Given the description of an element on the screen output the (x, y) to click on. 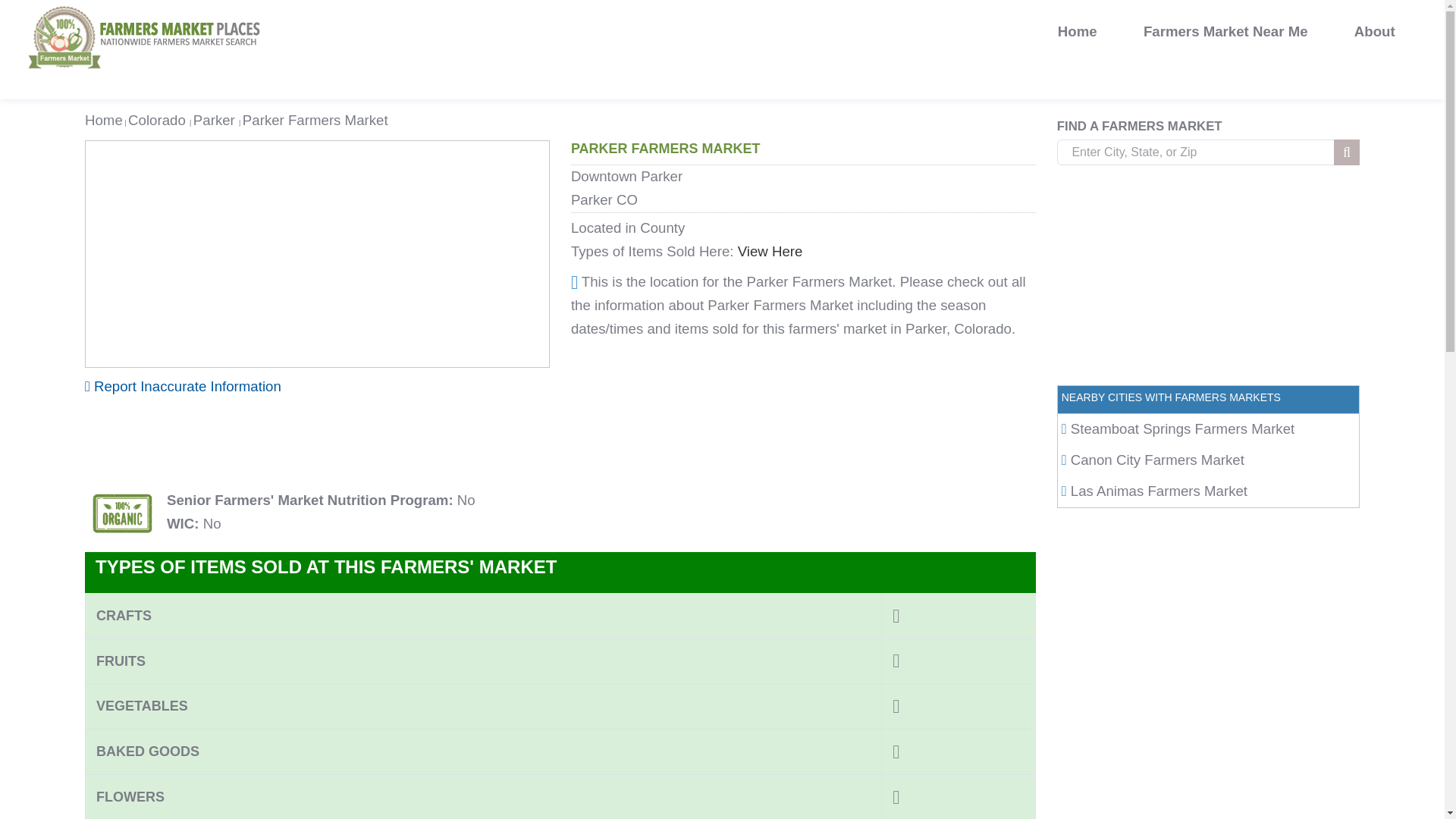
Farmers Market Near Me (1225, 31)
farmers market (143, 51)
Advertisement (559, 439)
Home (1077, 31)
Advertisement (1208, 278)
